Given the description of an element on the screen output the (x, y) to click on. 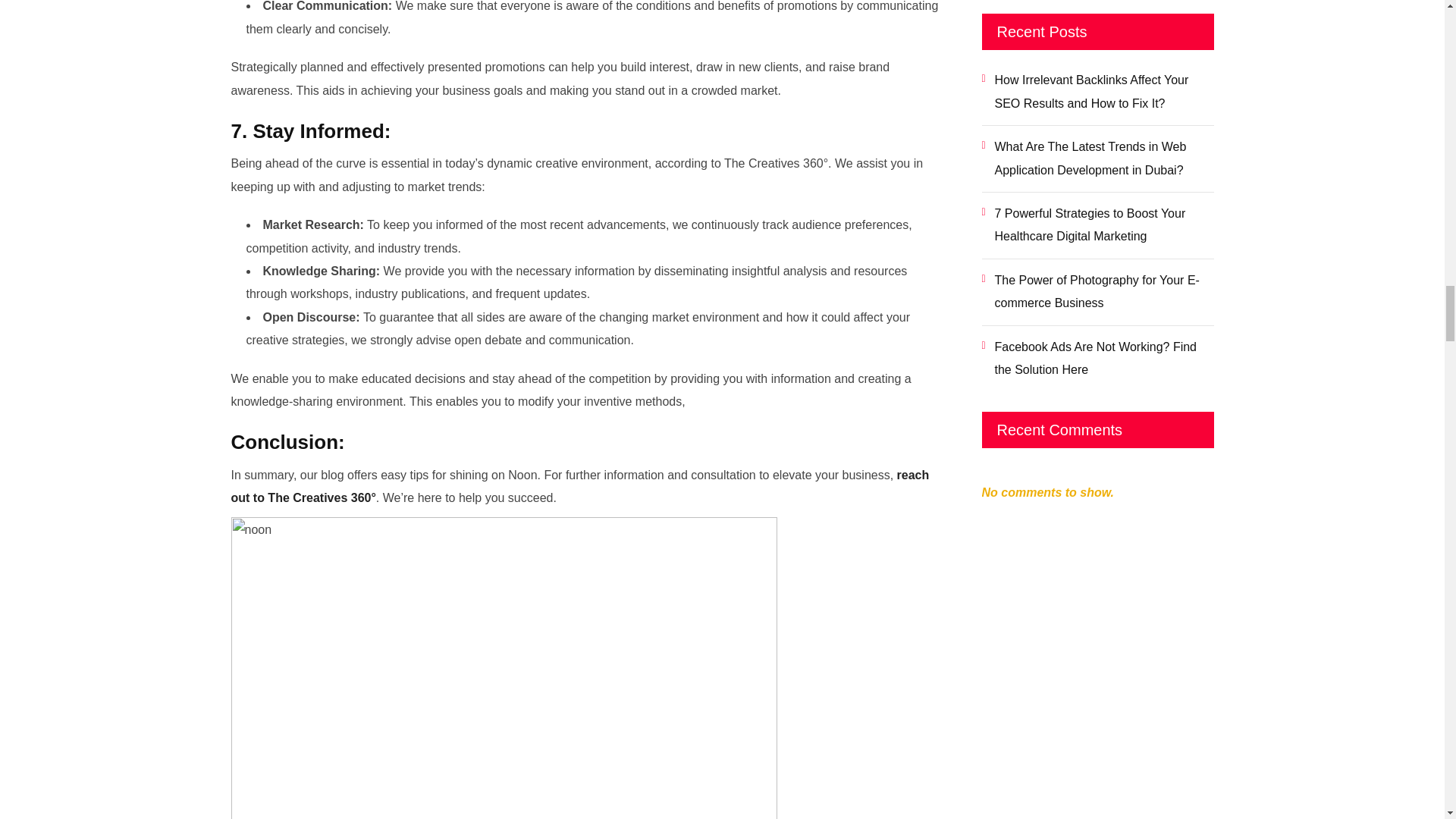
Facebook Ads Are Not Working? Find the Solution Here (1096, 358)
The Power of Photography for Your E-commerce Business (1096, 292)
